Given the description of an element on the screen output the (x, y) to click on. 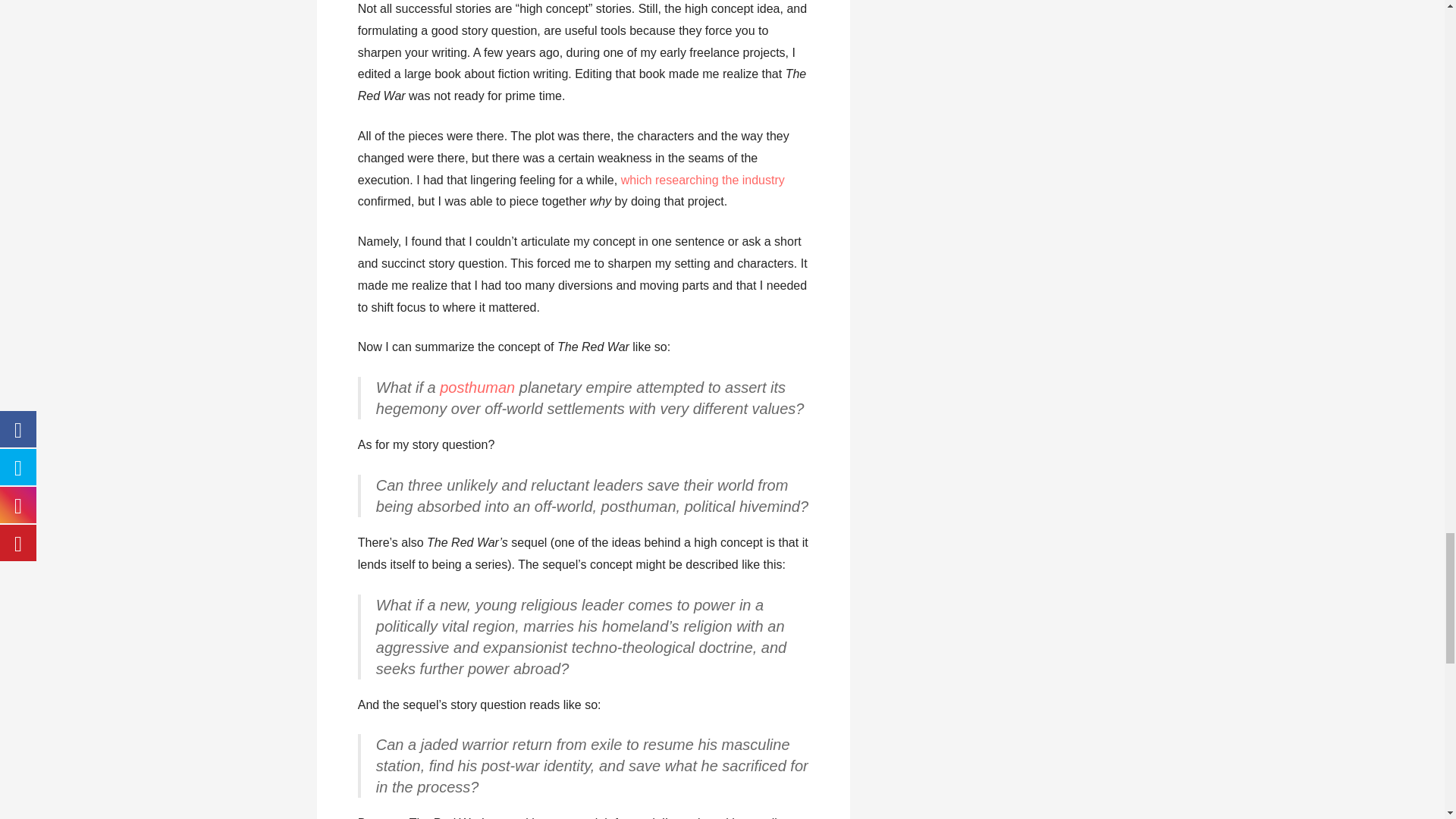
Publishing 101: Review (702, 179)
posthuman (477, 387)
which researching the industry (702, 179)
